Given the description of an element on the screen output the (x, y) to click on. 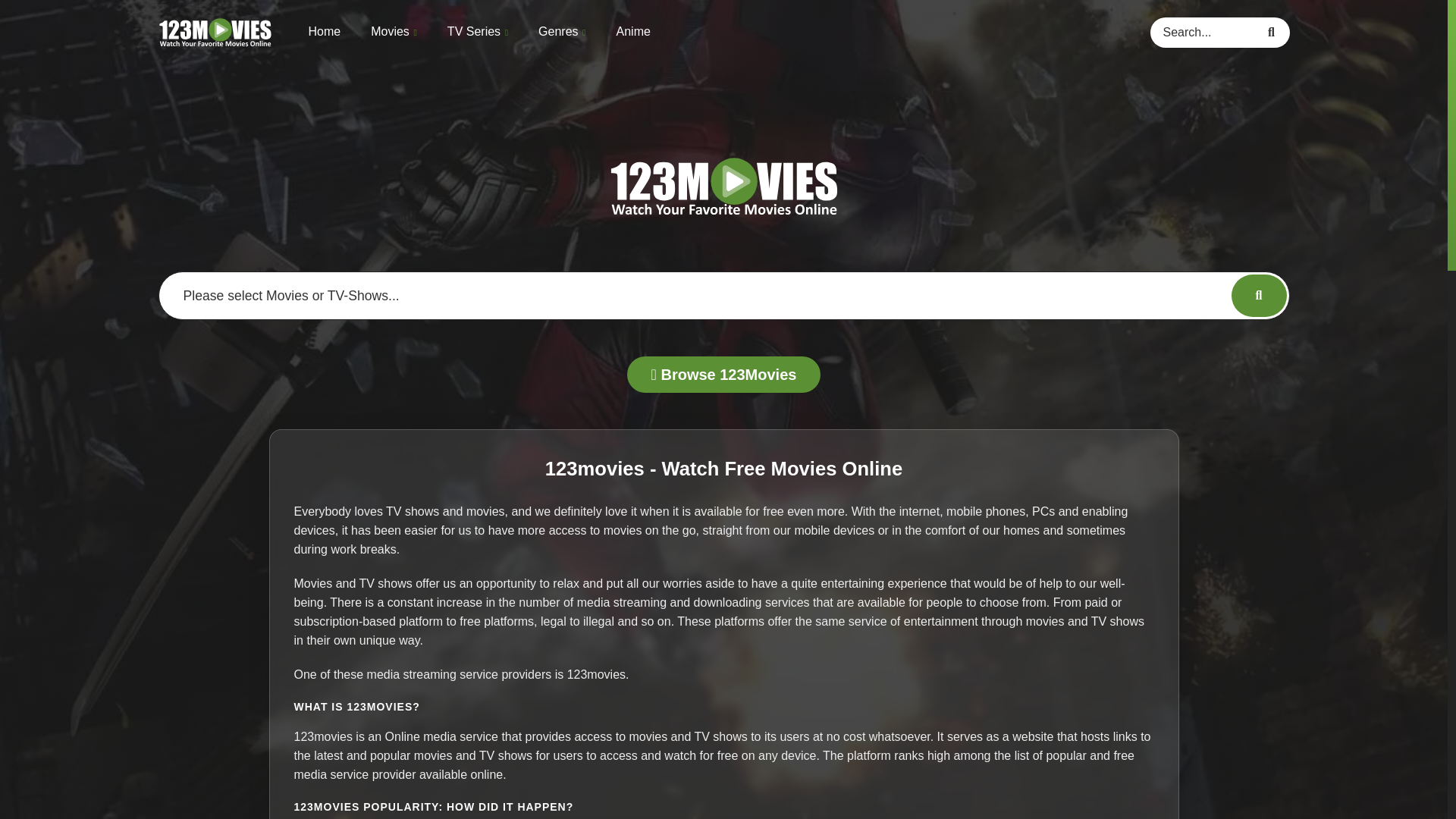
TV Series (477, 31)
 Browse 123Movies (724, 374)
Movies (393, 31)
Home (323, 30)
Search (1273, 31)
Anime (632, 30)
Genres (561, 31)
